Given the description of an element on the screen output the (x, y) to click on. 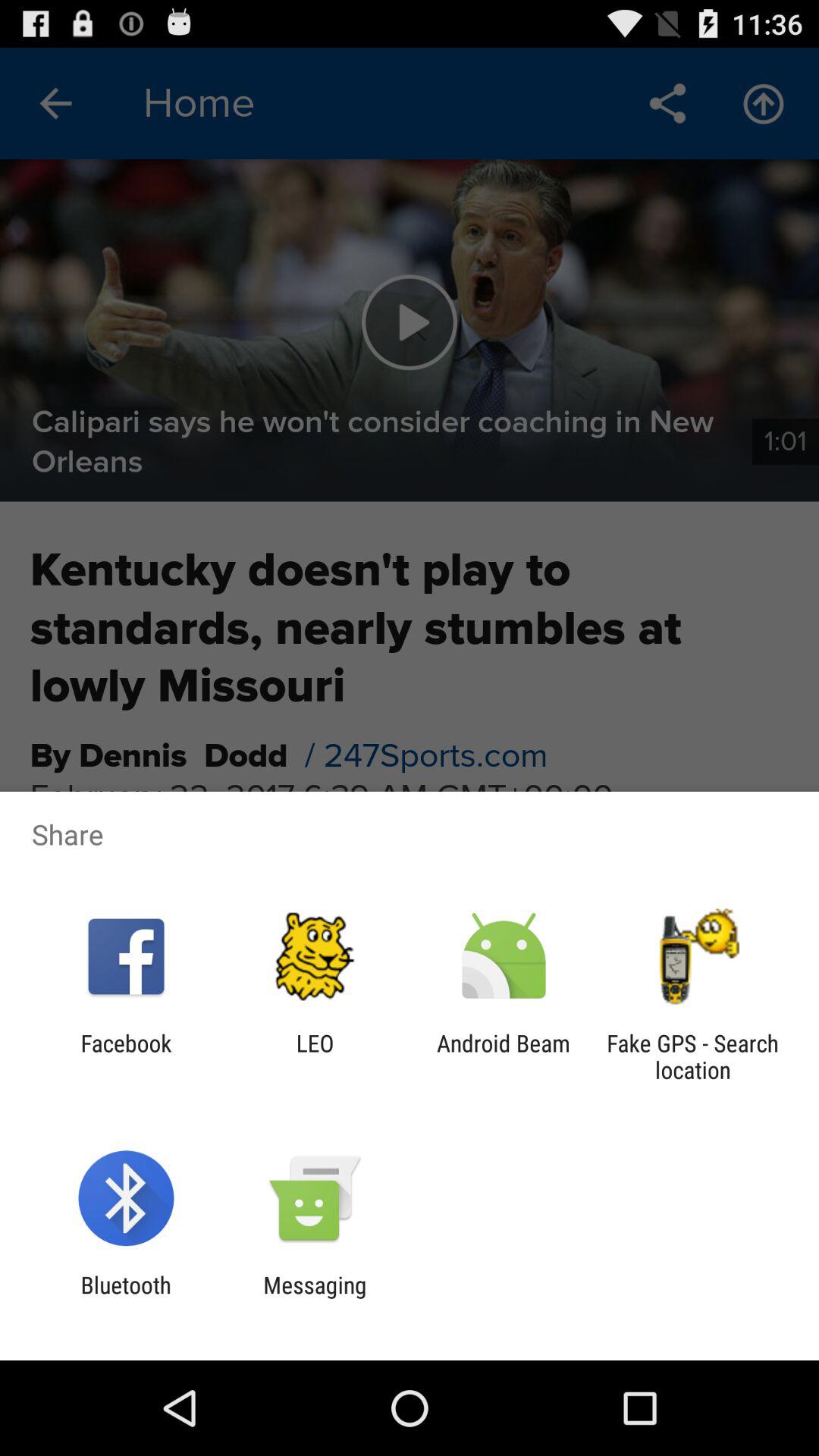
flip until fake gps search (692, 1056)
